Given the description of an element on the screen output the (x, y) to click on. 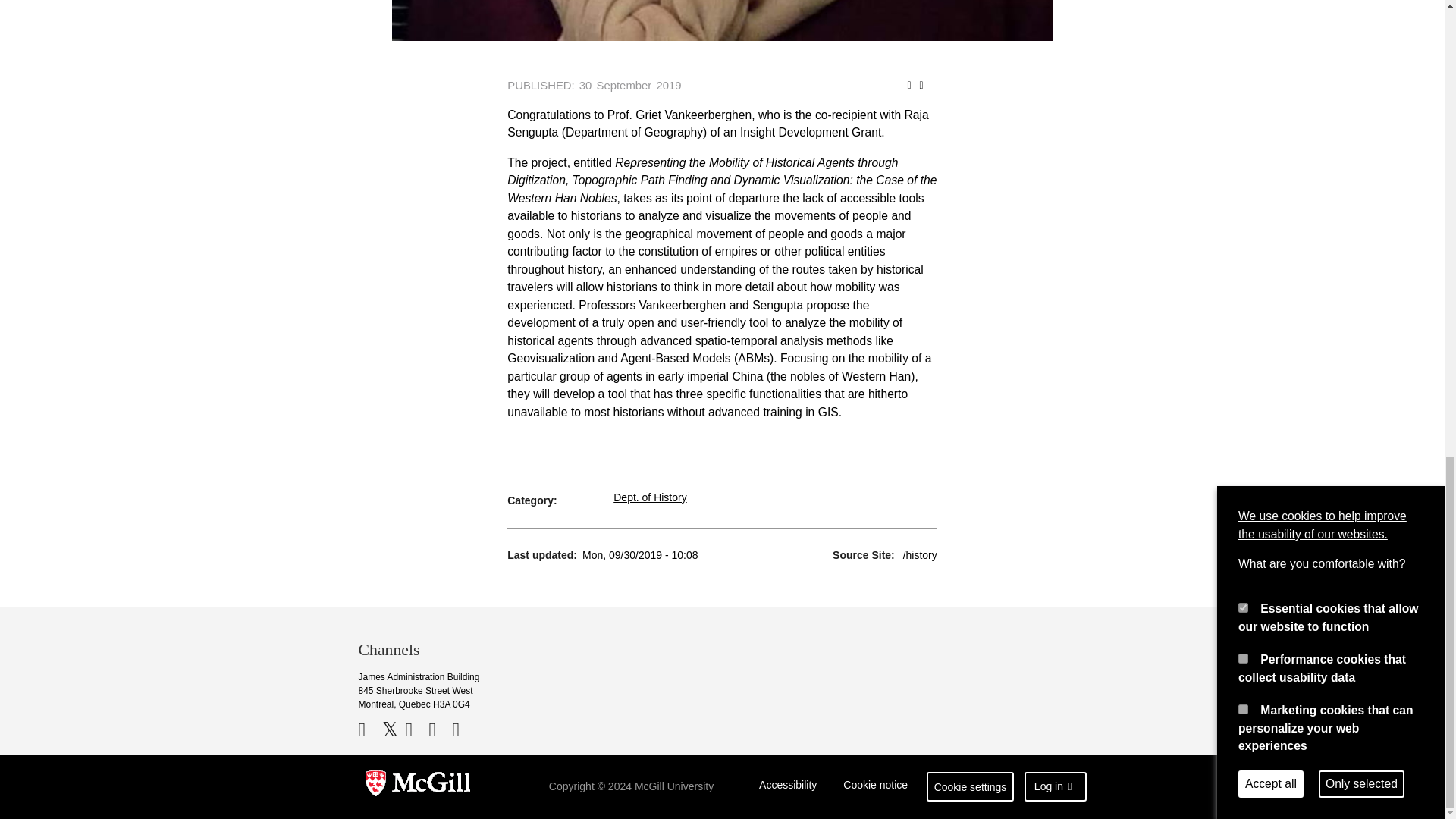
return to McGill University (417, 786)
Follow us on LinkedIn (439, 729)
Accessibility (788, 786)
Follow us on Facebook (368, 729)
Follow us on Instagram (461, 729)
Cookie notice (875, 786)
Cookie settings (970, 786)
Follow us on YouTube (414, 729)
Instagram (461, 729)
Accessibility (788, 786)
Follow us on X (392, 729)
Cookie notice (875, 786)
LinkedIn (439, 729)
X (392, 729)
YouTube (414, 729)
